Given the description of an element on the screen output the (x, y) to click on. 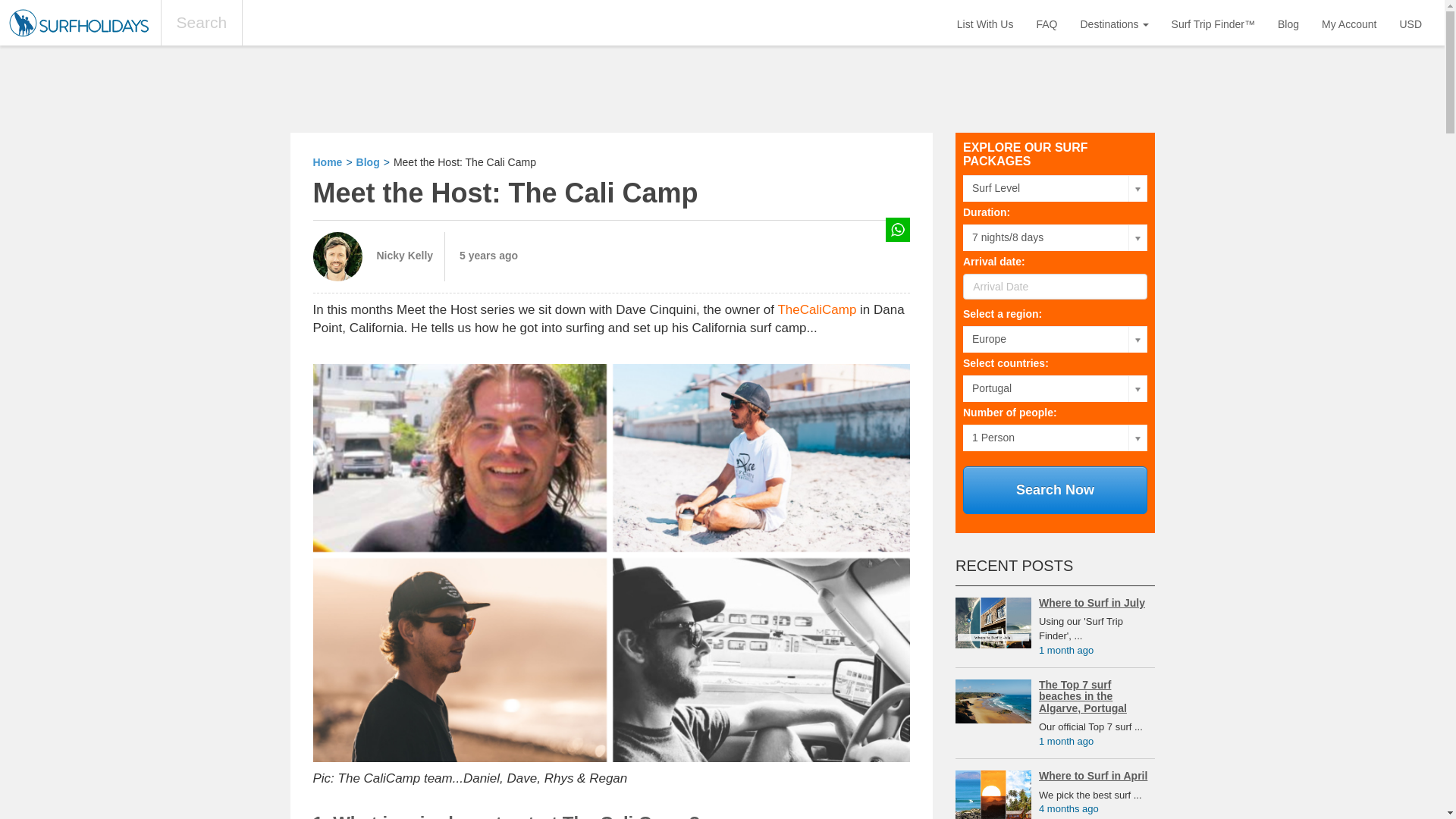
FAQ (1046, 22)
Search (201, 22)
List With Us (984, 22)
Destinations (1114, 22)
